Given the description of an element on the screen output the (x, y) to click on. 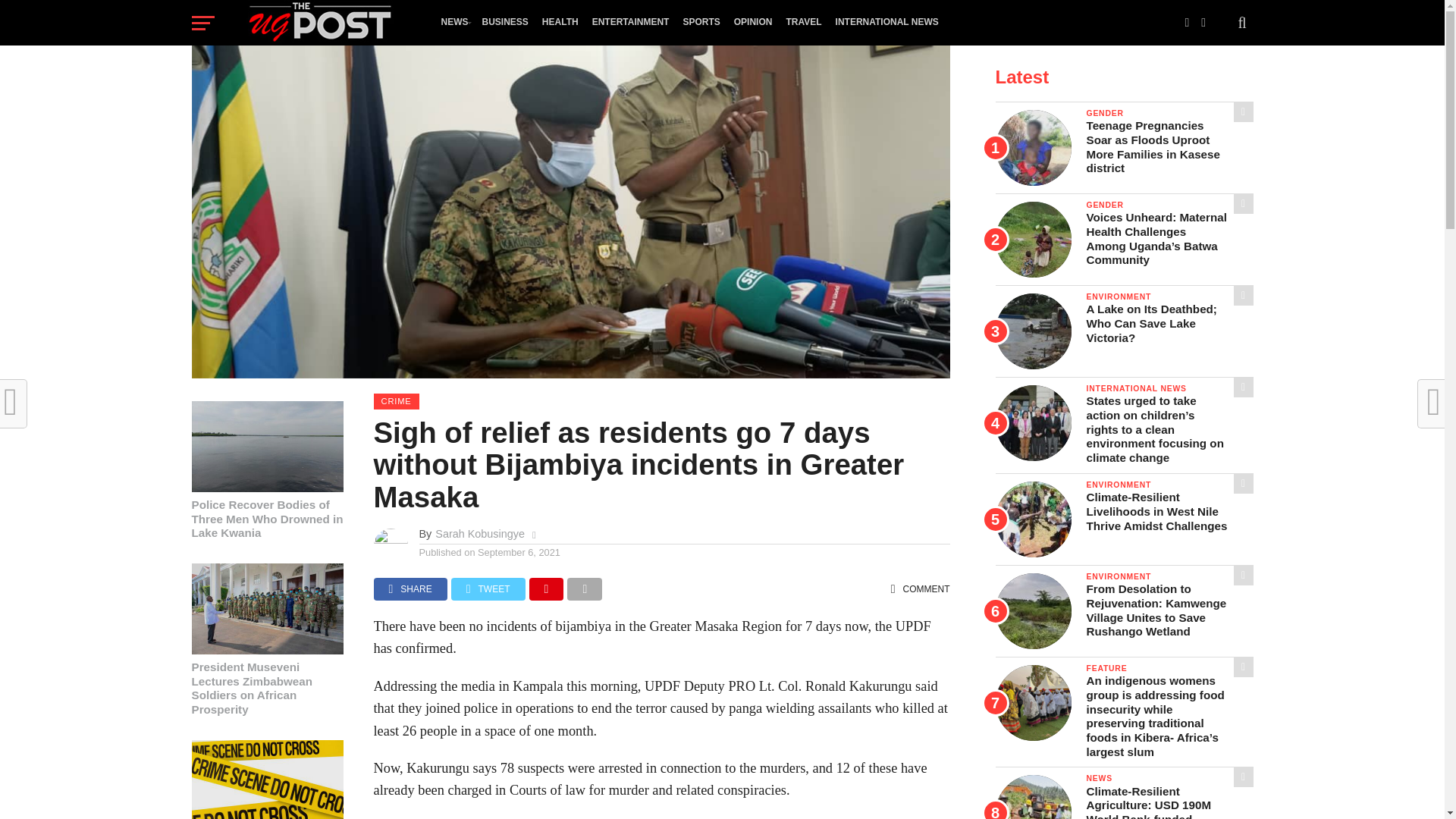
ENTERTAINMENT (631, 22)
NEWS (453, 22)
Posts by Sarah Kobusingye (479, 533)
TRAVEL (803, 22)
HEALTH (560, 22)
INTERNATIONAL NEWS (886, 22)
OPINION (752, 22)
